Given the description of an element on the screen output the (x, y) to click on. 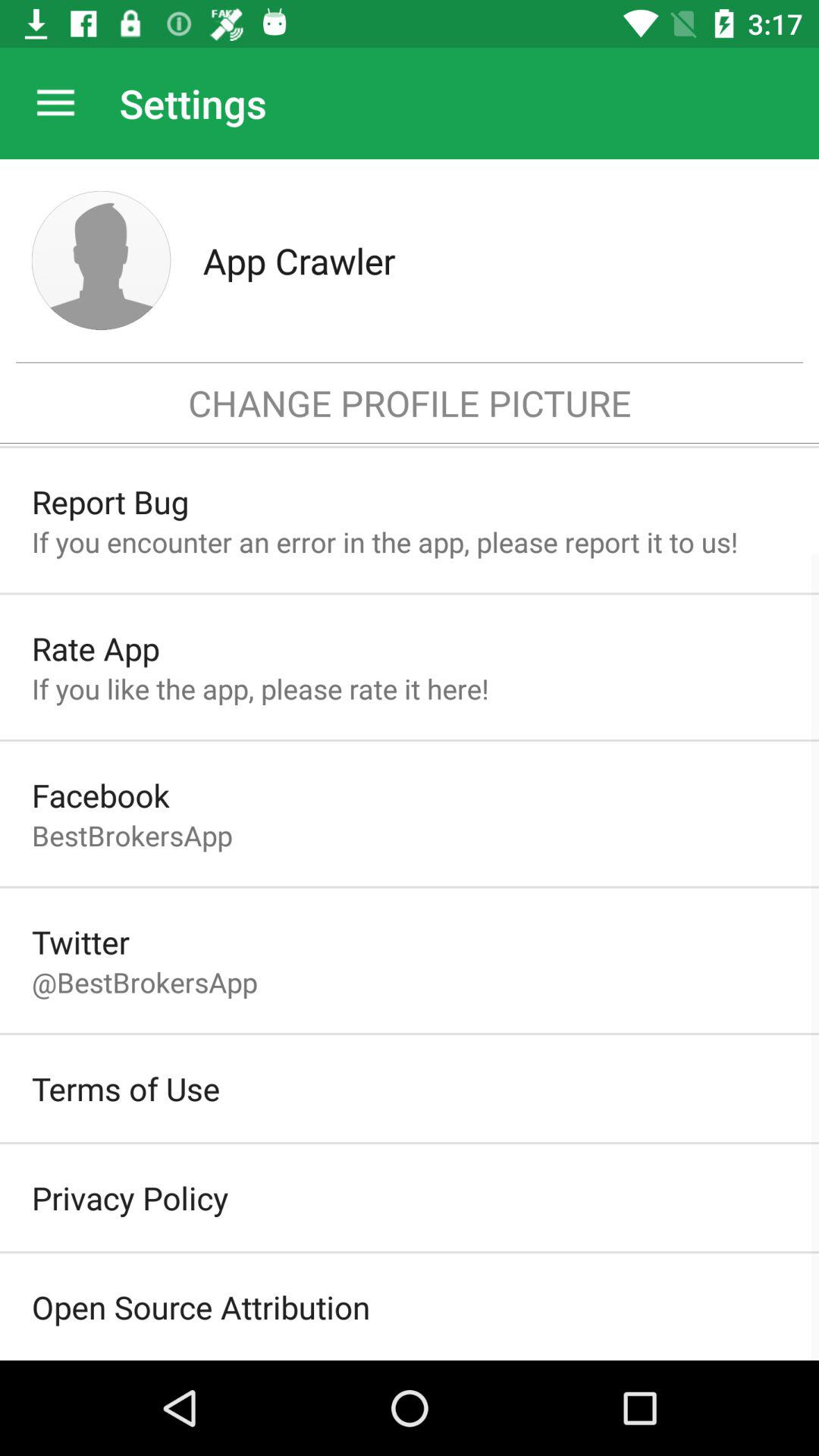
turn off app crawler icon (495, 260)
